Given the description of an element on the screen output the (x, y) to click on. 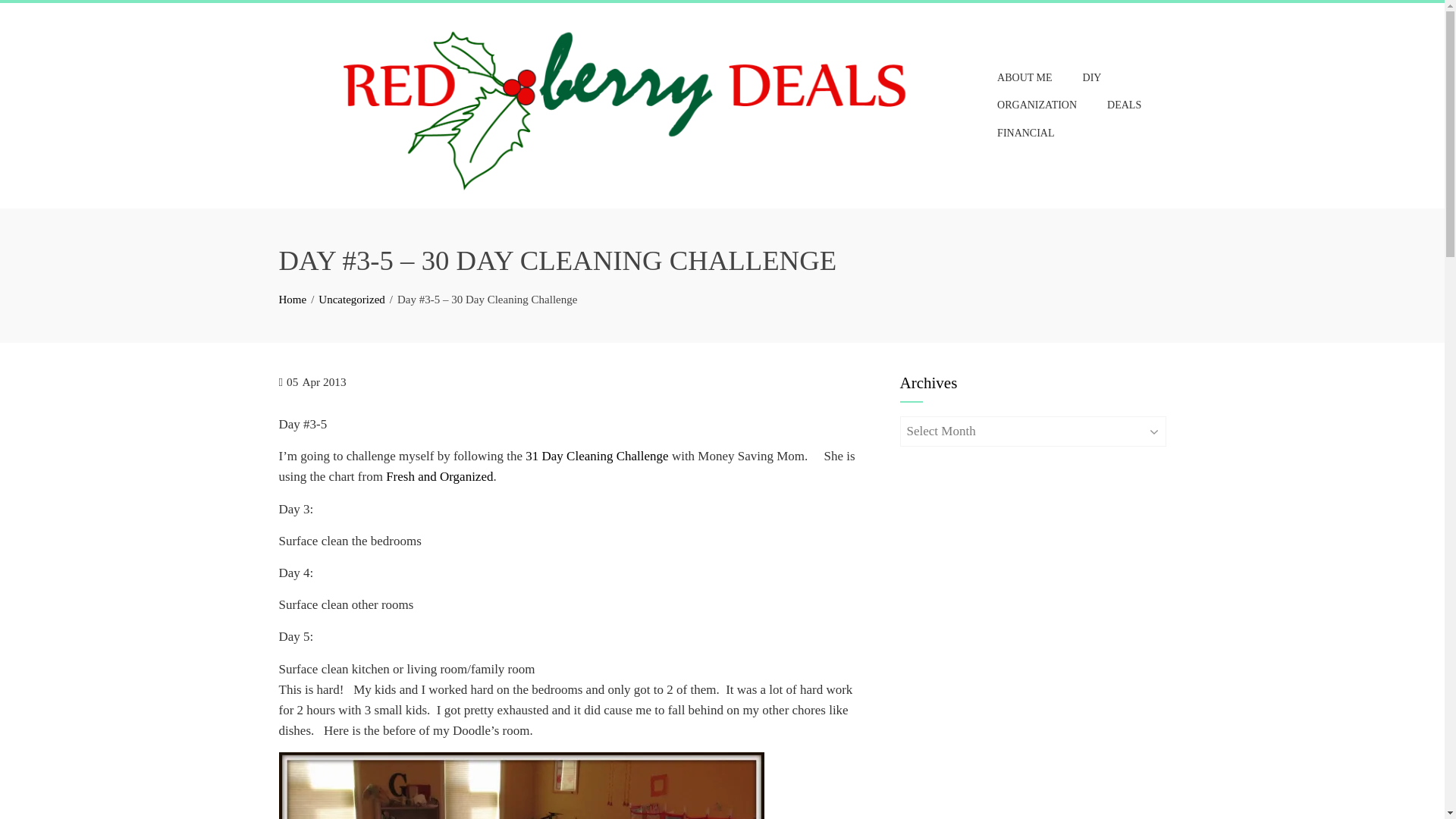
ORGANIZATION (1036, 104)
FINANCIAL (1025, 133)
31 Day Cleaning Challenge (596, 455)
Fresh and Organized (439, 476)
DEALS (1124, 104)
Home (293, 299)
ABOUT ME (1023, 77)
DIY (1092, 77)
Uncategorized (351, 299)
